Given the description of an element on the screen output the (x, y) to click on. 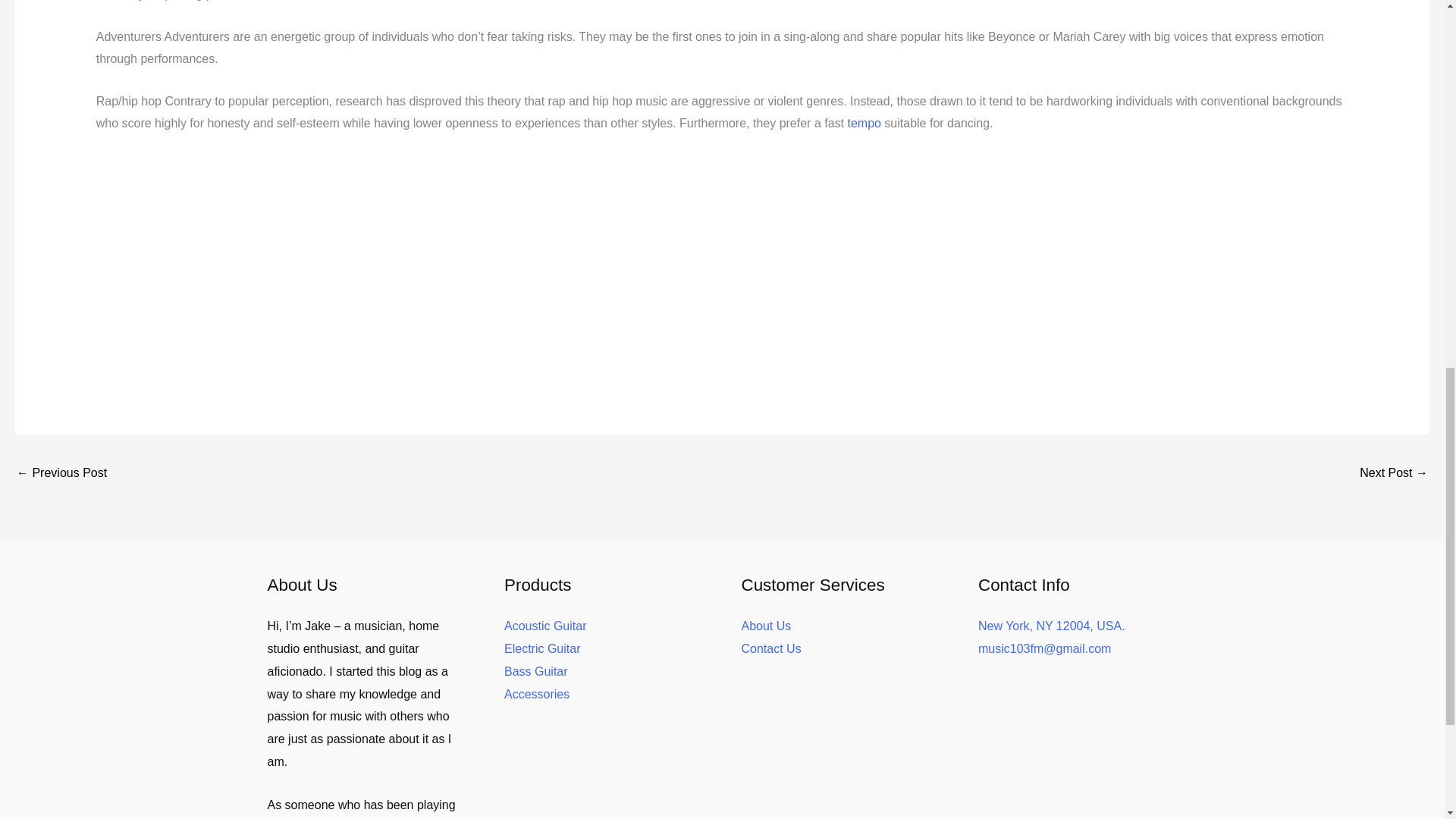
Chords Seven Spanish Angels (61, 474)
Wagon Wheel Guitar Chords (1393, 474)
